Given the description of an element on the screen output the (x, y) to click on. 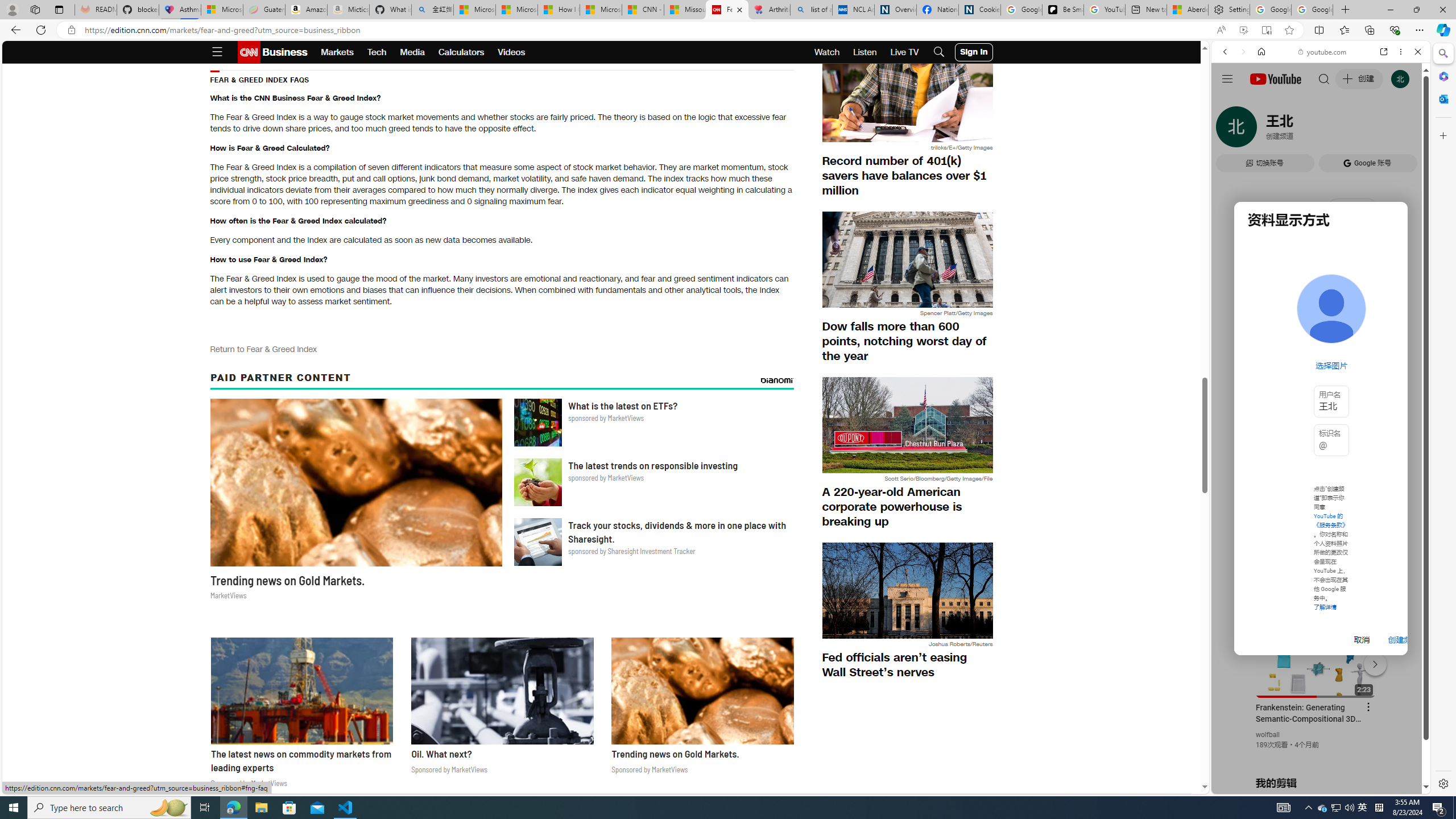
Fear and Greed Index - Investor Sentiment | CNN (726, 9)
How I Got Rid of Microsoft Edge's Unnecessary Features (558, 9)
Aberdeen, Hong Kong SAR hourly forecast | Microsoft Weather (1186, 9)
Global web icon (1232, 655)
Dianomi Logo (776, 379)
Microsoft Start (600, 9)
Settings (1229, 9)
Workspaces (34, 9)
Actions for this site (1371, 661)
VIDEOS (1300, 130)
Live TV (903, 52)
